Given the description of an element on the screen output the (x, y) to click on. 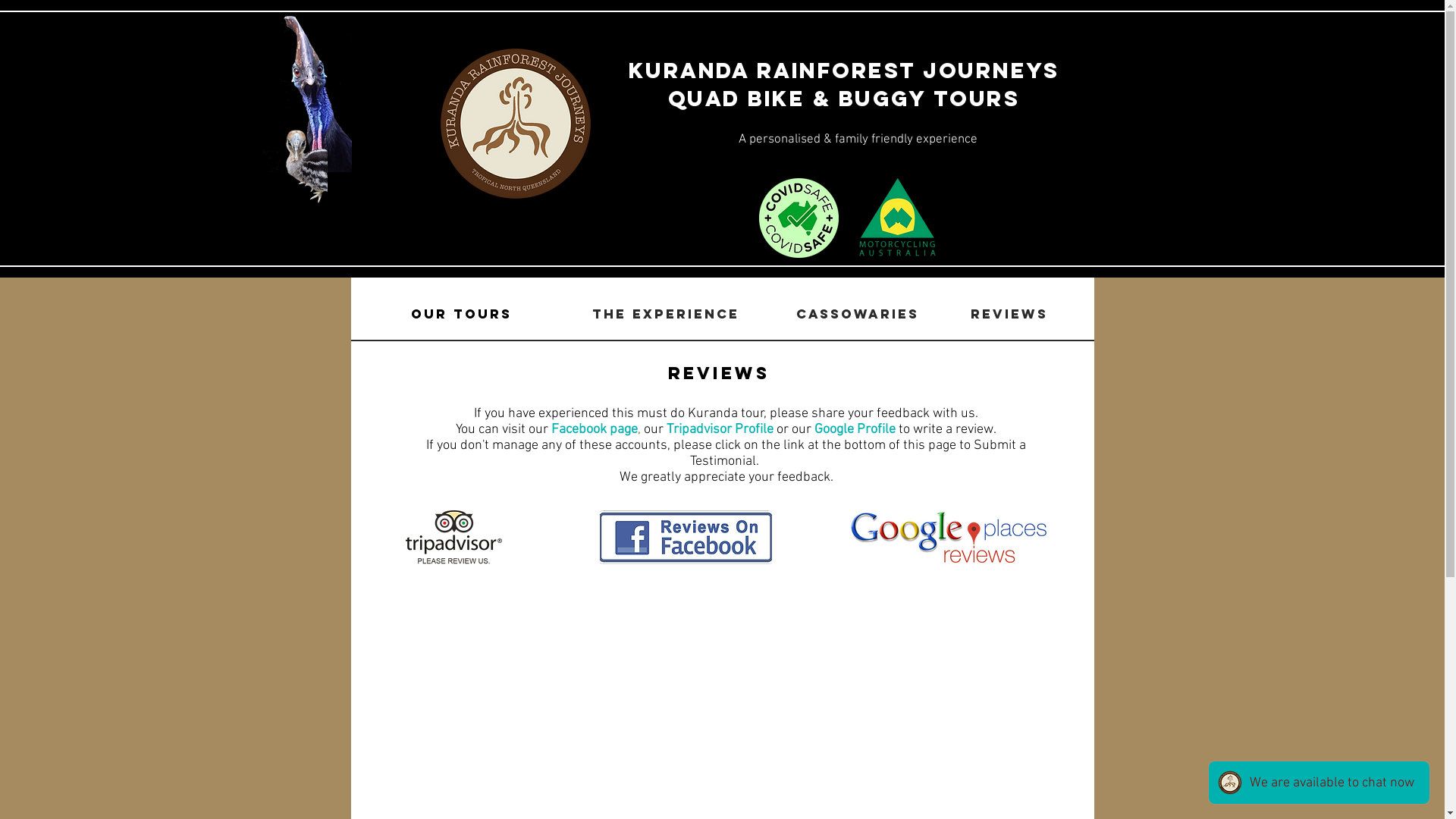
Tripadvisor Profile Element type: text (719, 429)
OUR TOURS Element type: text (461, 313)
Review Rainforest Journeys on Facebook Element type: hover (685, 537)
Reviews Element type: text (1009, 313)
THE EXPERIENCE Element type: text (664, 315)
Google Profile Element type: text (854, 429)
Facebook page Element type: text (594, 429)
CASSOWARIES Element type: text (857, 315)
Kuranda Rainforest Journeys logo Element type: hover (515, 123)
Review Rainforest Journeys on Tripadvisor Element type: hover (452, 538)
Review Rainforest Journeys on Google Places Element type: hover (948, 537)
